Given the description of an element on the screen output the (x, y) to click on. 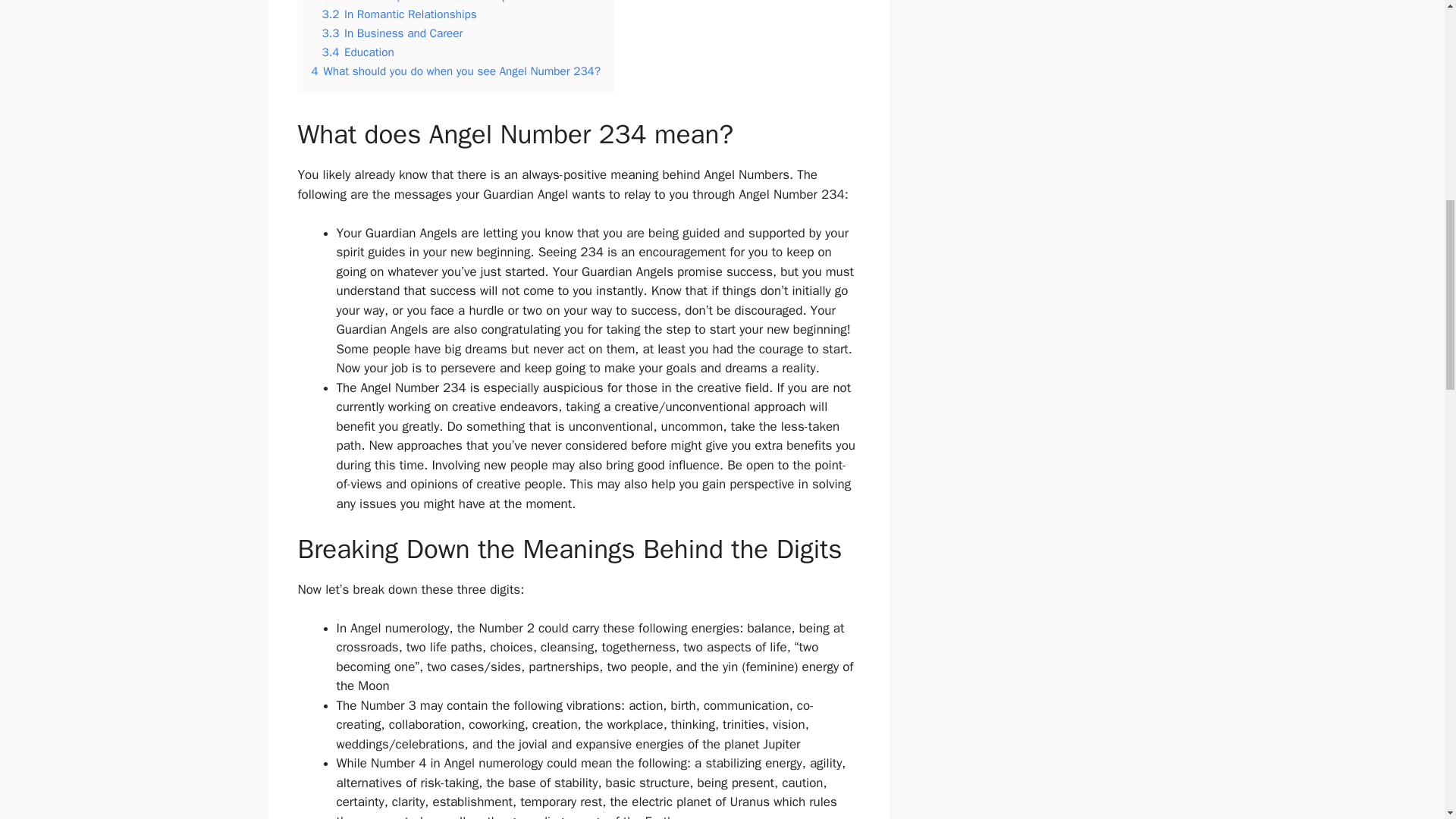
3.4 Education (357, 52)
4 What should you do when you see Angel Number 234? (455, 70)
Scroll back to top (1406, 720)
3.2 In Romantic Relationships (398, 14)
3.3 In Business and Career (392, 32)
